Given the description of an element on the screen output the (x, y) to click on. 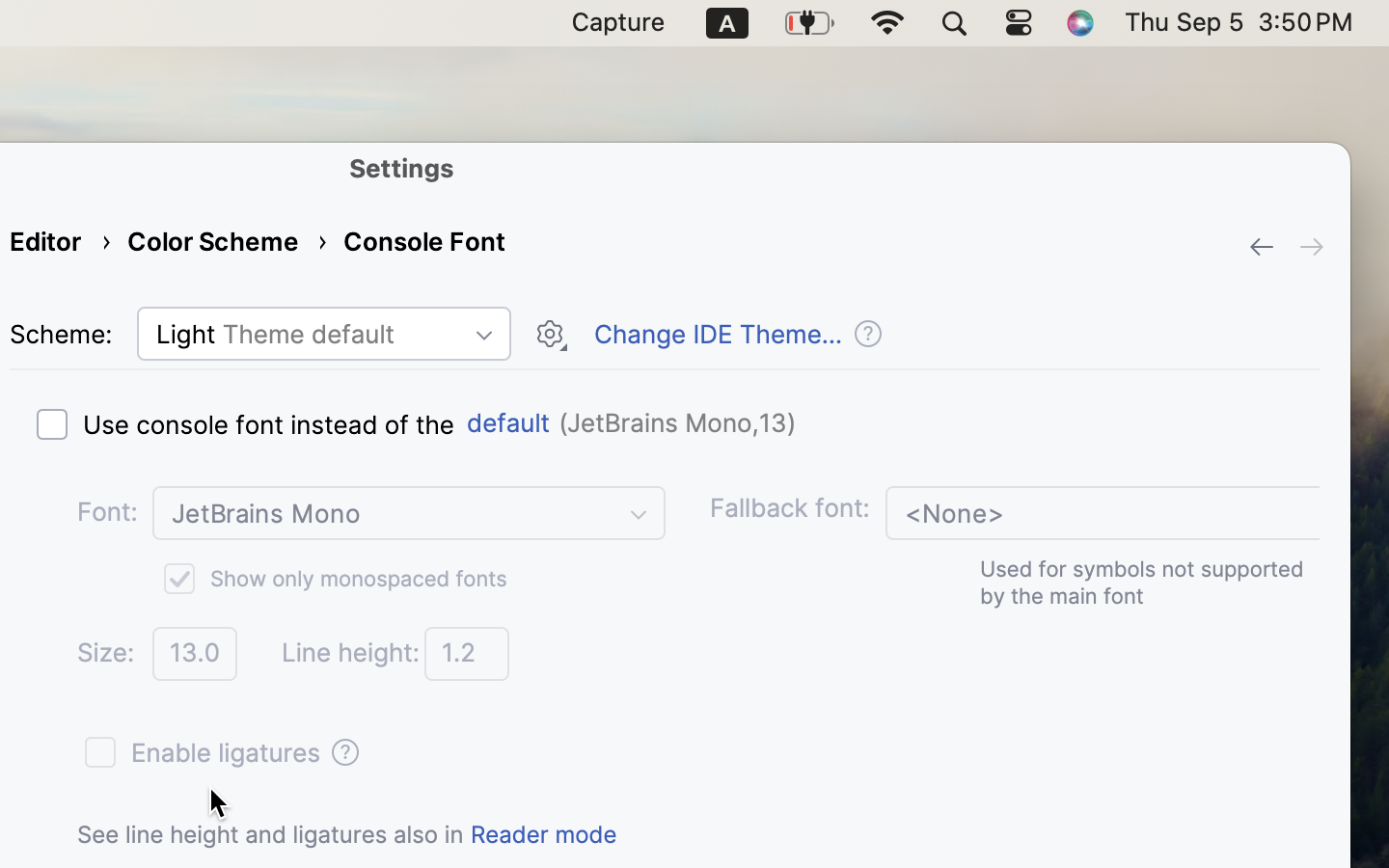
Fallback font: Element type: AXStaticText (789, 507)
Settings Element type: AXStaticText (402, 167)
1.2 Element type: AXTextField (466, 653)
Line height: Element type: AXStaticText (349, 652)
